Given the description of an element on the screen output the (x, y) to click on. 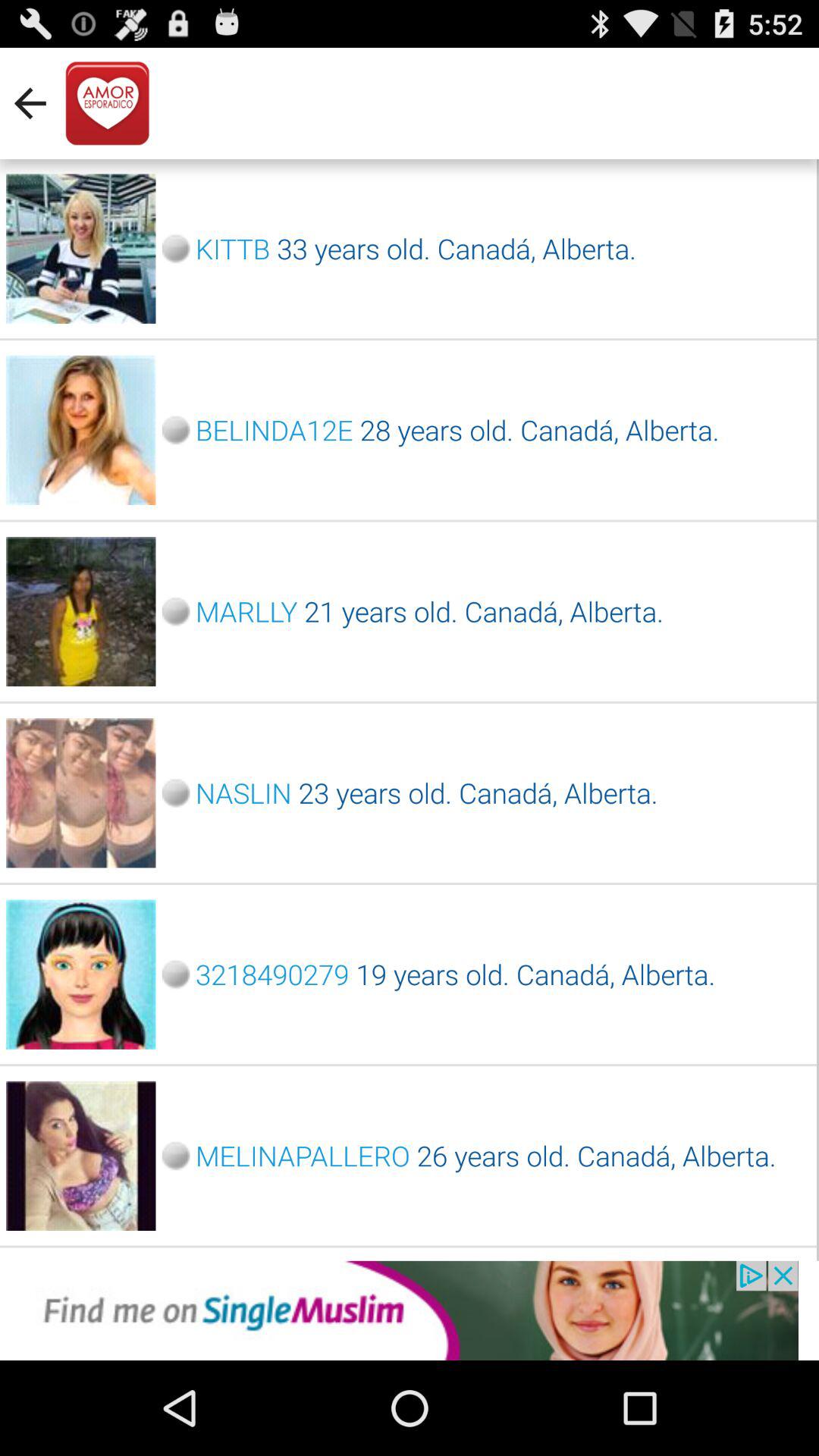
advertisements (409, 1310)
